Given the description of an element on the screen output the (x, y) to click on. 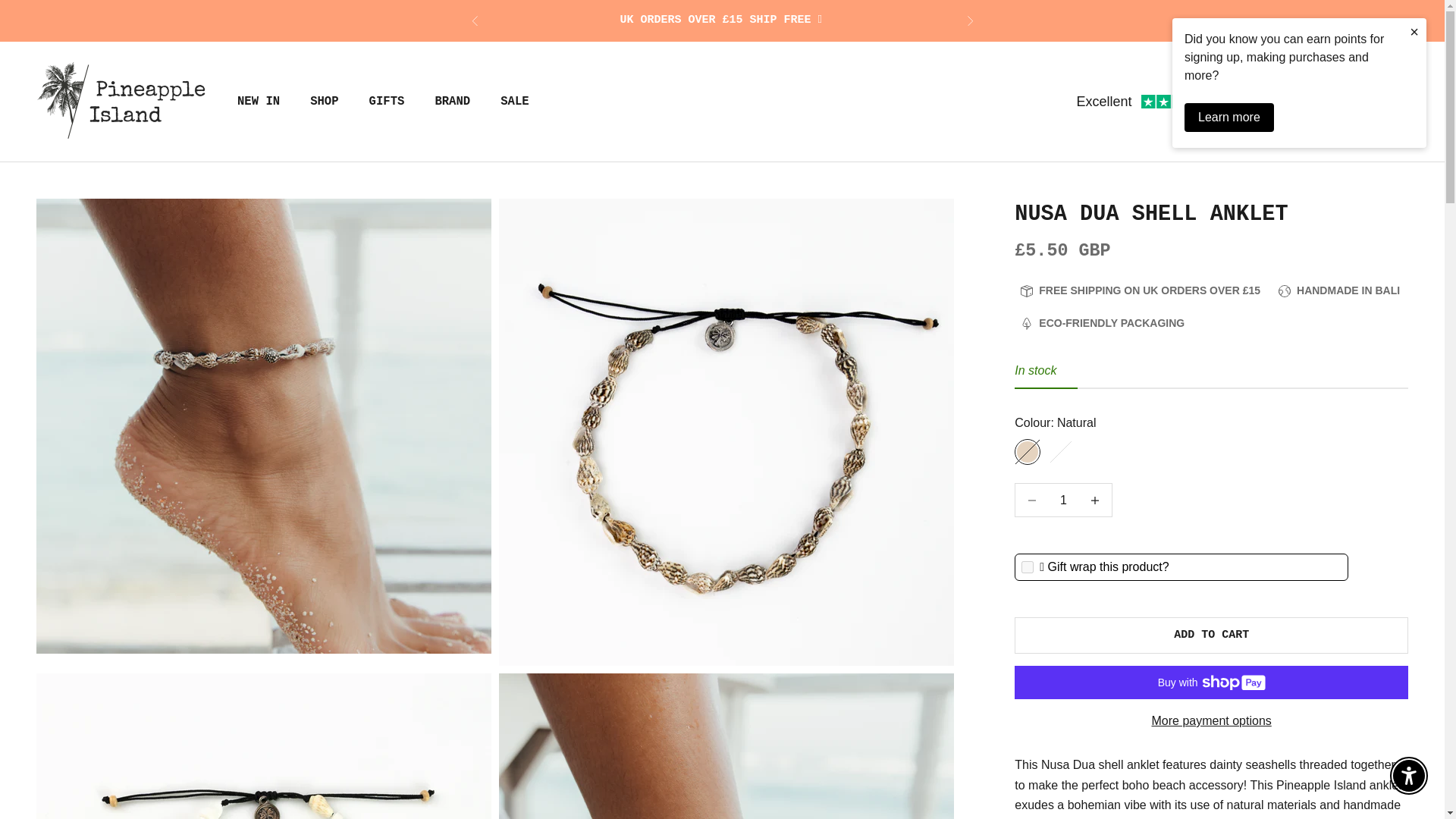
Customer reviews powered by Trustpilot (1146, 101)
1 (1063, 500)
yes (1027, 567)
Pineapple Island (121, 101)
NEW IN (258, 101)
Next (968, 20)
Previous (474, 20)
